Given the description of an element on the screen output the (x, y) to click on. 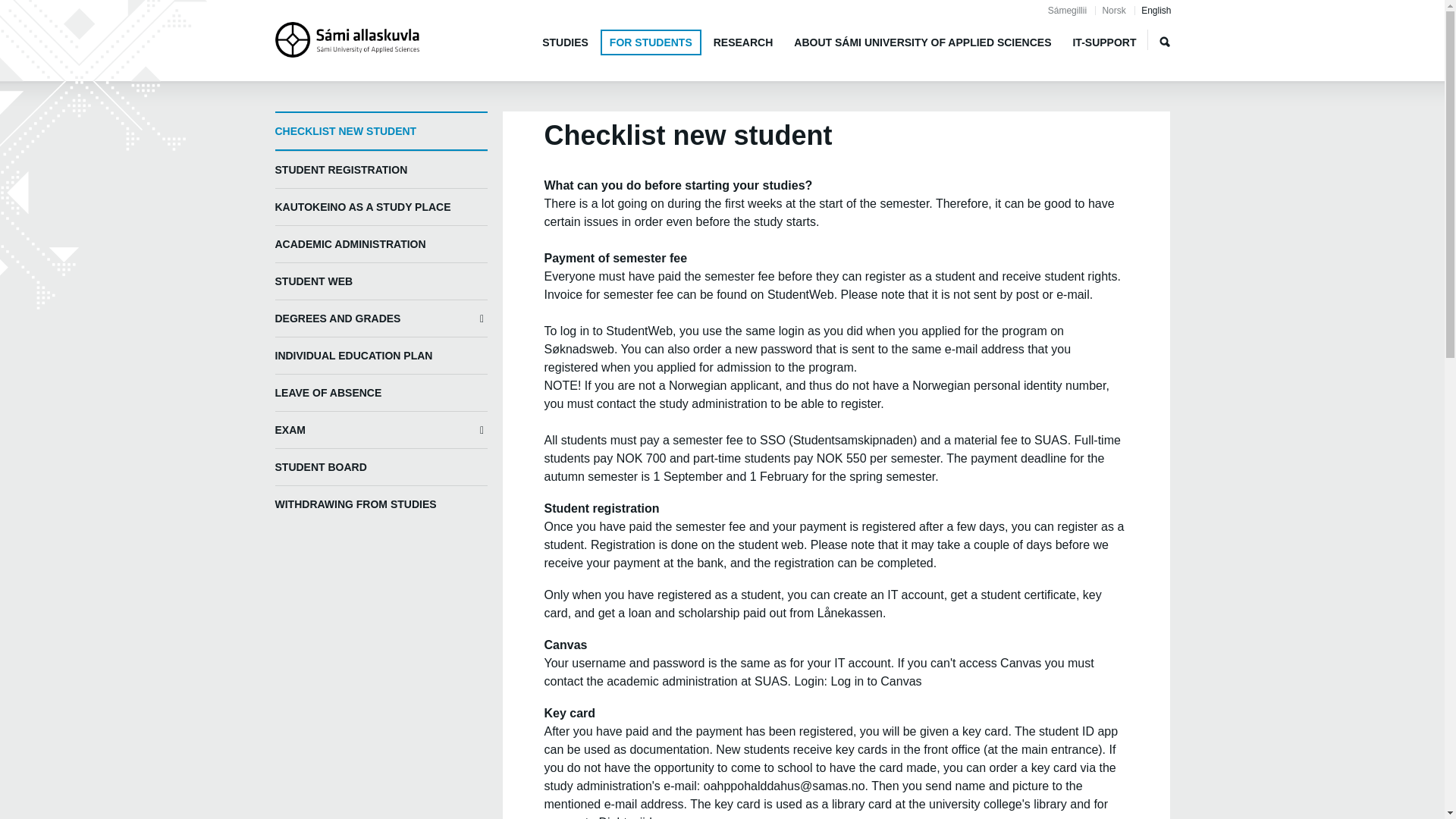
RESEARCH (743, 41)
Norsk (1113, 9)
EXAM (380, 429)
CHECKLIST NEW STUDENT (380, 130)
Checklist new student  (1155, 9)
ACADEMIC ADMINISTRATION (380, 243)
STUDENT REGISTRATION (380, 169)
STUDENT WEB (380, 280)
student web (770, 544)
Log in to Canvas (875, 680)
